Given the description of an element on the screen output the (x, y) to click on. 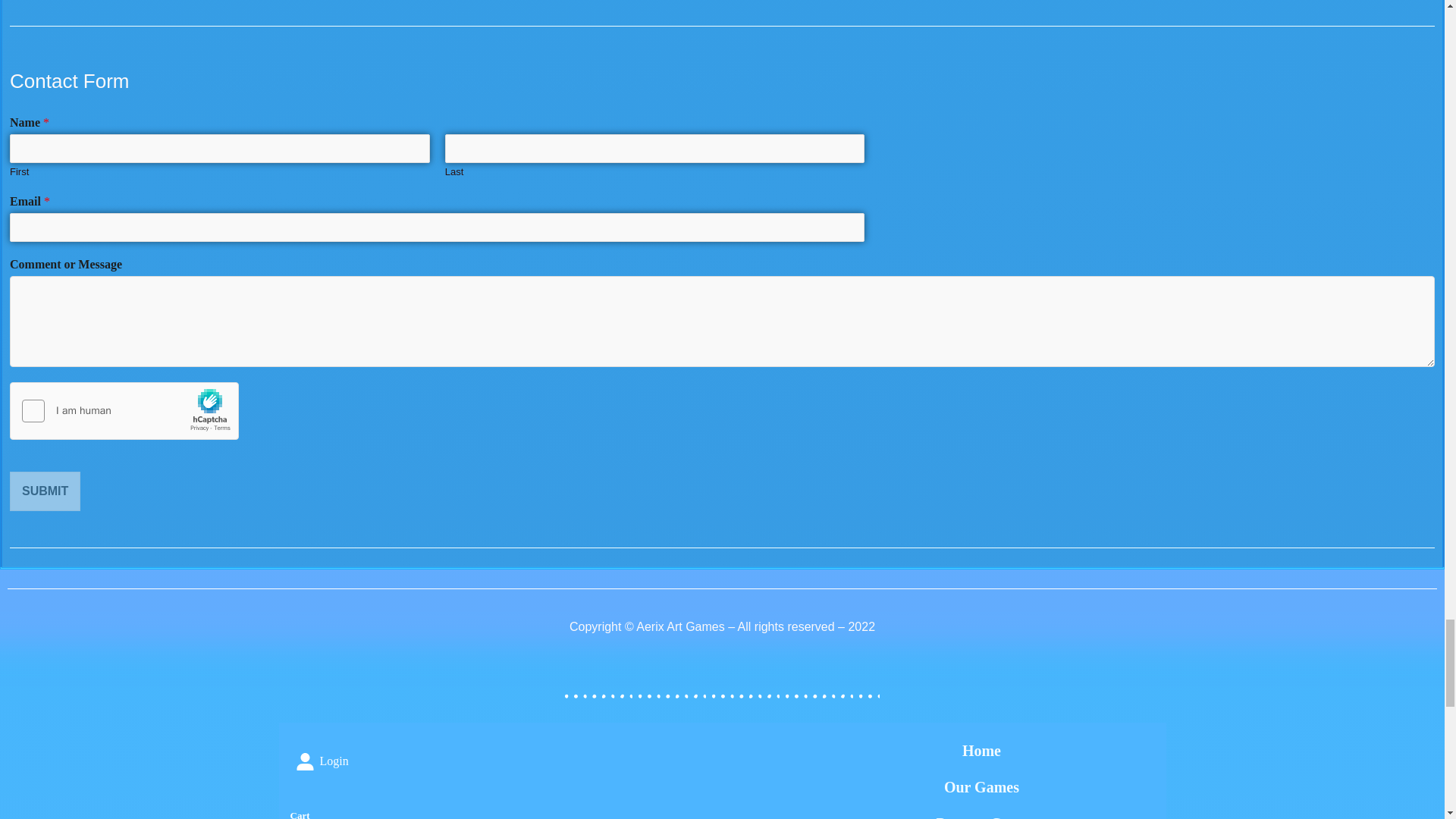
Widget containing checkbox for hCaptcha security challenge (125, 411)
